Given the description of an element on the screen output the (x, y) to click on. 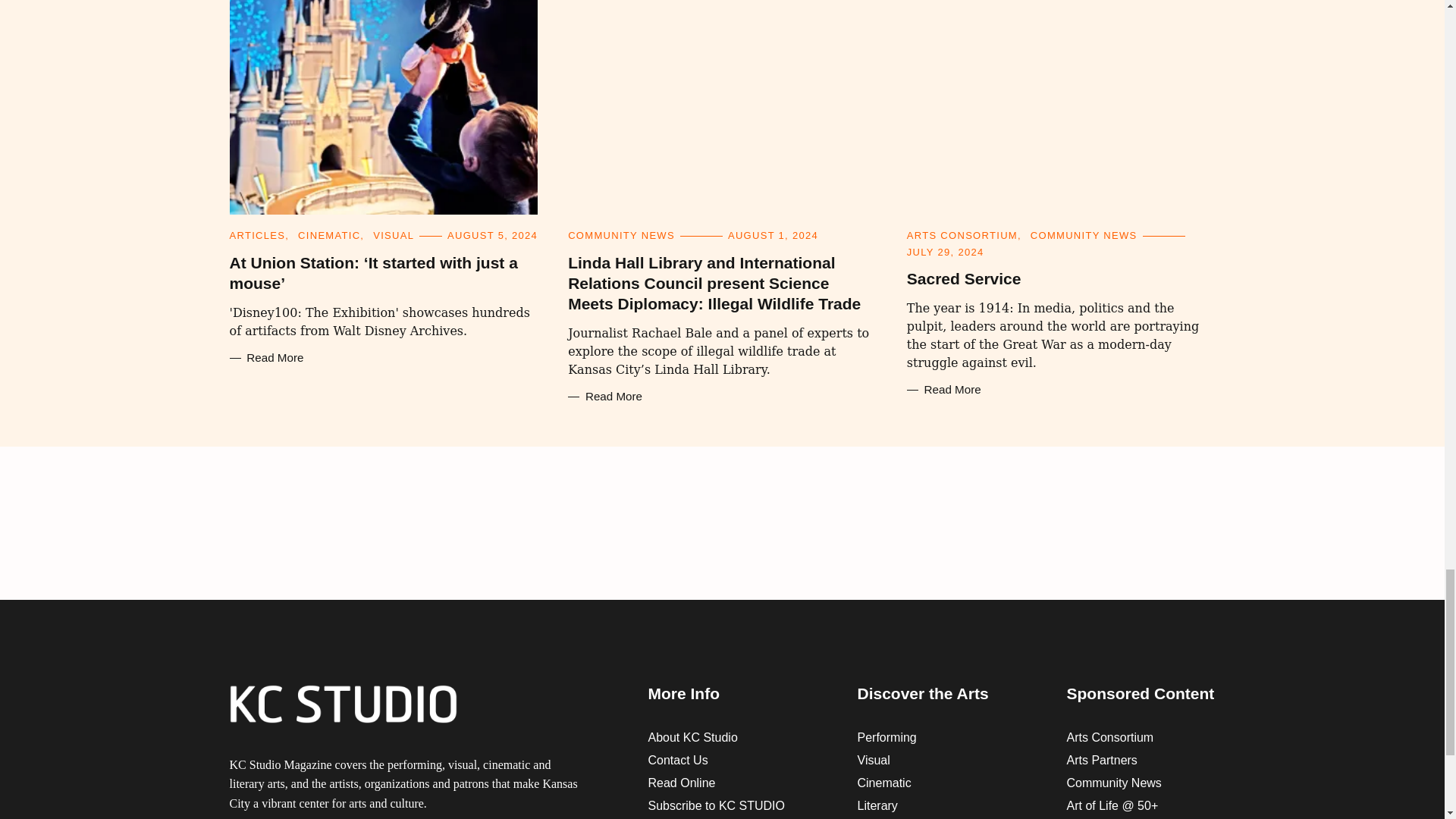
3rd party ad content (721, 522)
